Given the description of an element on the screen output the (x, y) to click on. 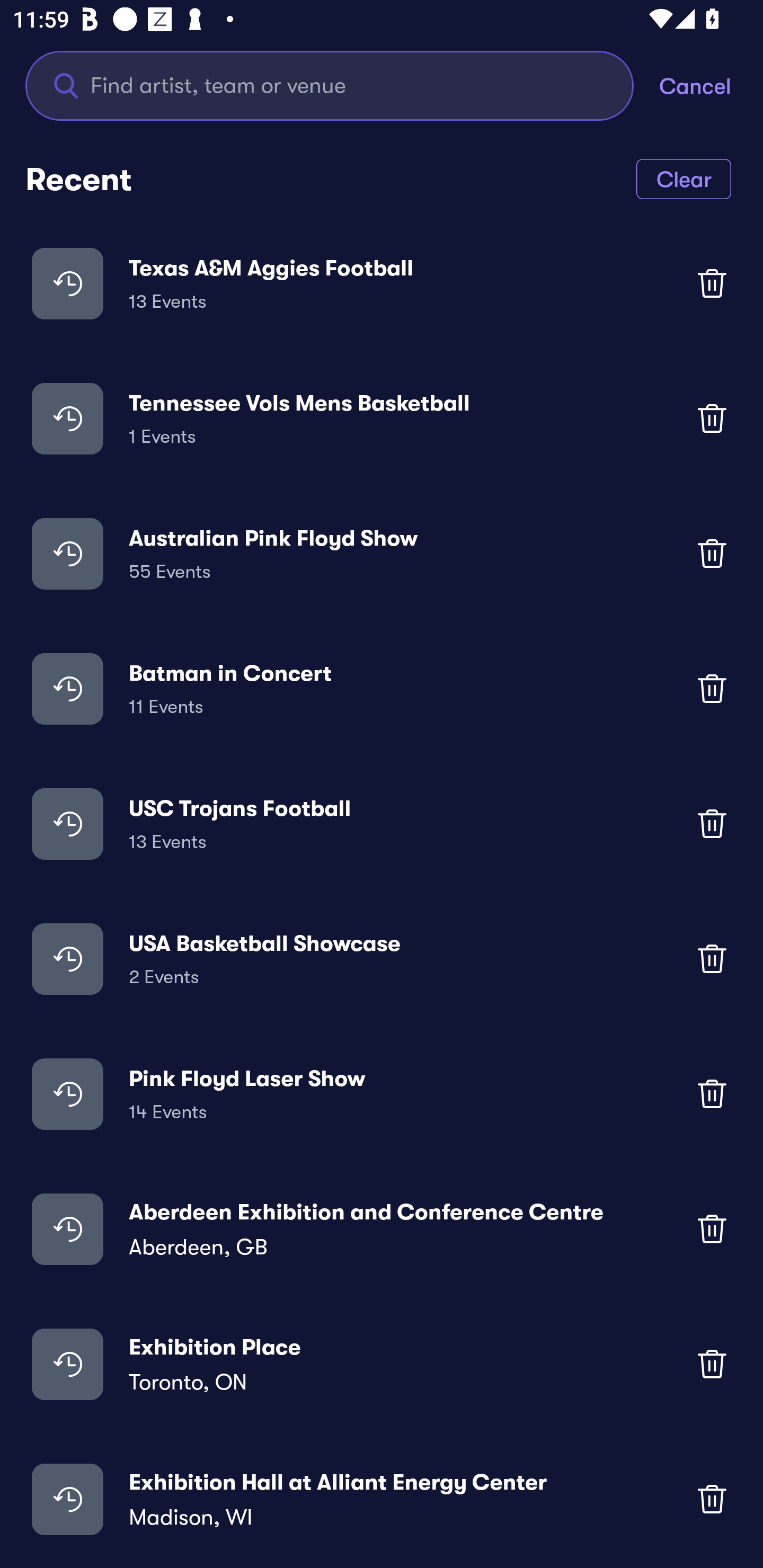
Cancel (711, 85)
Find artist, team or venue Find (329, 85)
Find artist, team or venue Find (341, 85)
Clear (683, 178)
Texas A&M Aggies Football 13 Events (381, 282)
Tennessee Vols Mens Basketball 1 Events (381, 417)
Australian Pink Floyd Show 55 Events (381, 553)
Batman in Concert 11 Events (381, 688)
USC Trojans Football 13 Events (381, 823)
USA Basketball Showcase 2 Events (381, 958)
Pink Floyd Laser Show 14 Events (381, 1093)
Exhibition Place Toronto, ON (381, 1364)
